Given the description of an element on the screen output the (x, y) to click on. 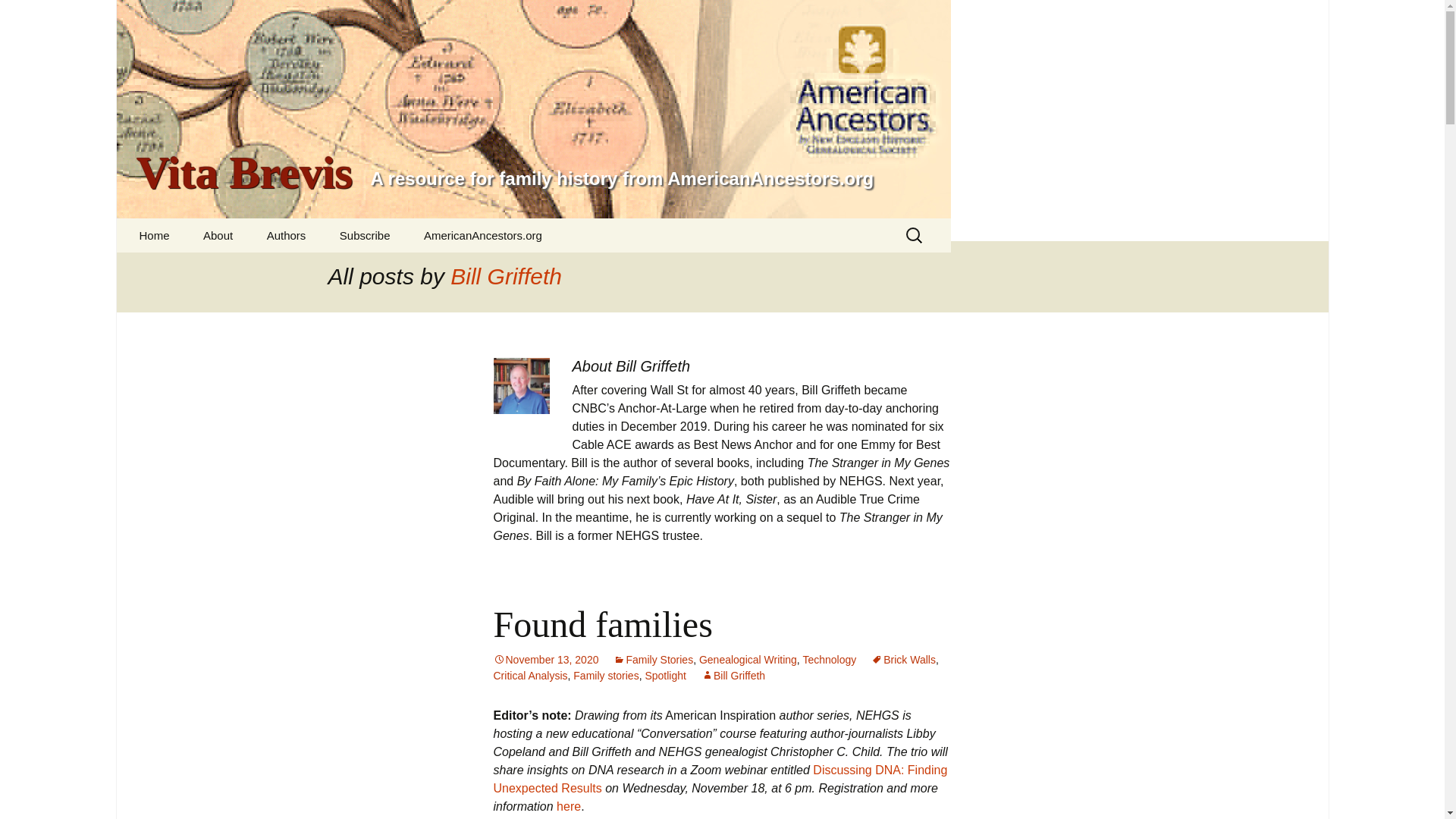
Robert Charles Anderson (327, 275)
Home (153, 235)
About (217, 235)
Authors (286, 235)
View all posts by Bill Griffeth (733, 675)
Permalink to Found families (545, 659)
